Given the description of an element on the screen output the (x, y) to click on. 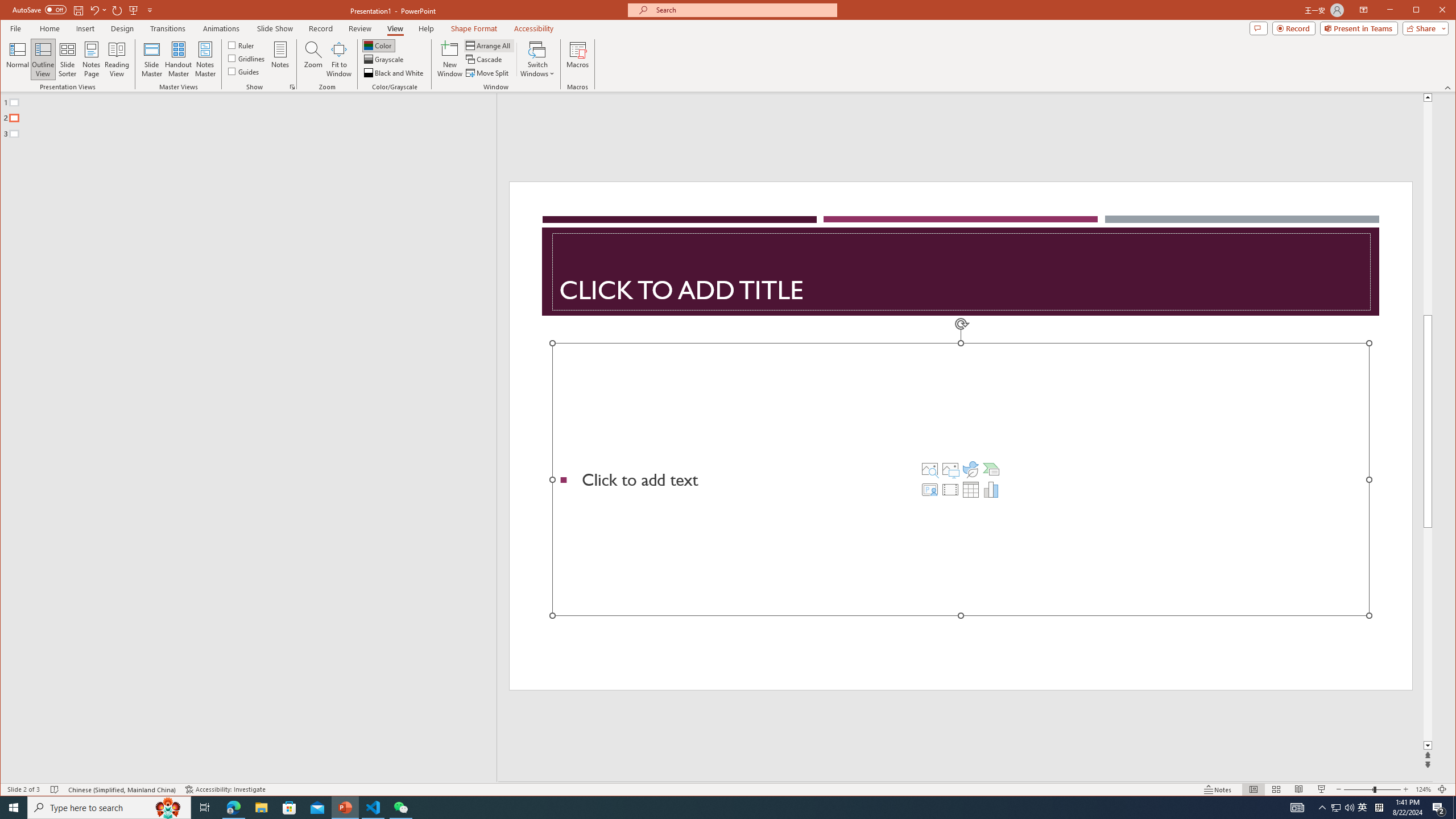
Insert Chart (991, 489)
Grayscale (384, 59)
WeChat - 1 running window (400, 807)
